Given the description of an element on the screen output the (x, y) to click on. 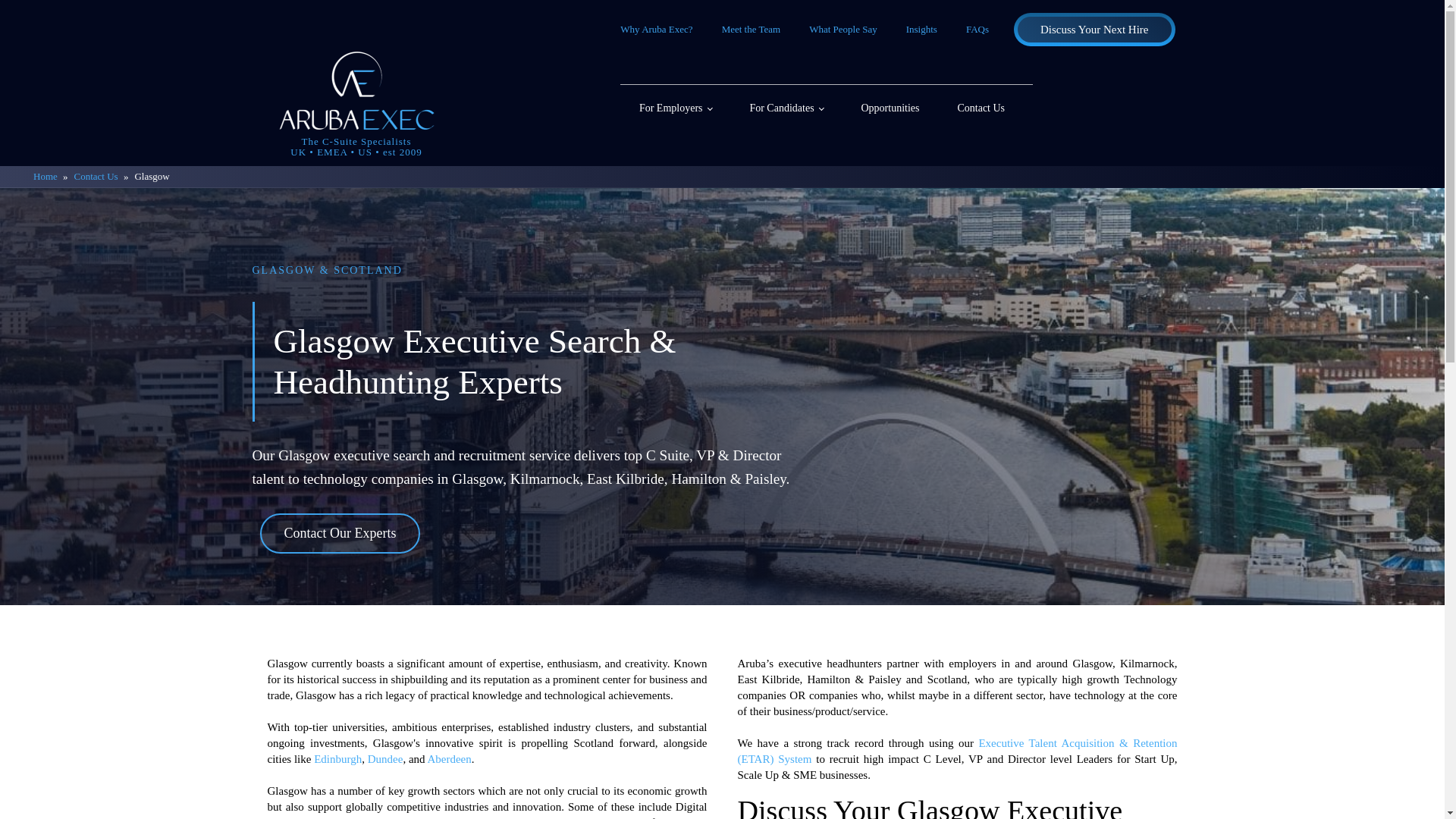
Breadcrumb link to Contact Us (95, 175)
Contact Us (980, 108)
Meet the Team (751, 29)
Home (45, 175)
For Candidates (785, 108)
Why Aruba Exec? (656, 29)
What People Say (843, 29)
Contact Us (95, 175)
Dundee (385, 758)
Finance (344, 817)
Breadcrumb link to Home (45, 175)
Insights (921, 29)
Discuss Your Next Hire (1094, 29)
For Employers (675, 108)
FAQs (976, 29)
